Given the description of an element on the screen output the (x, y) to click on. 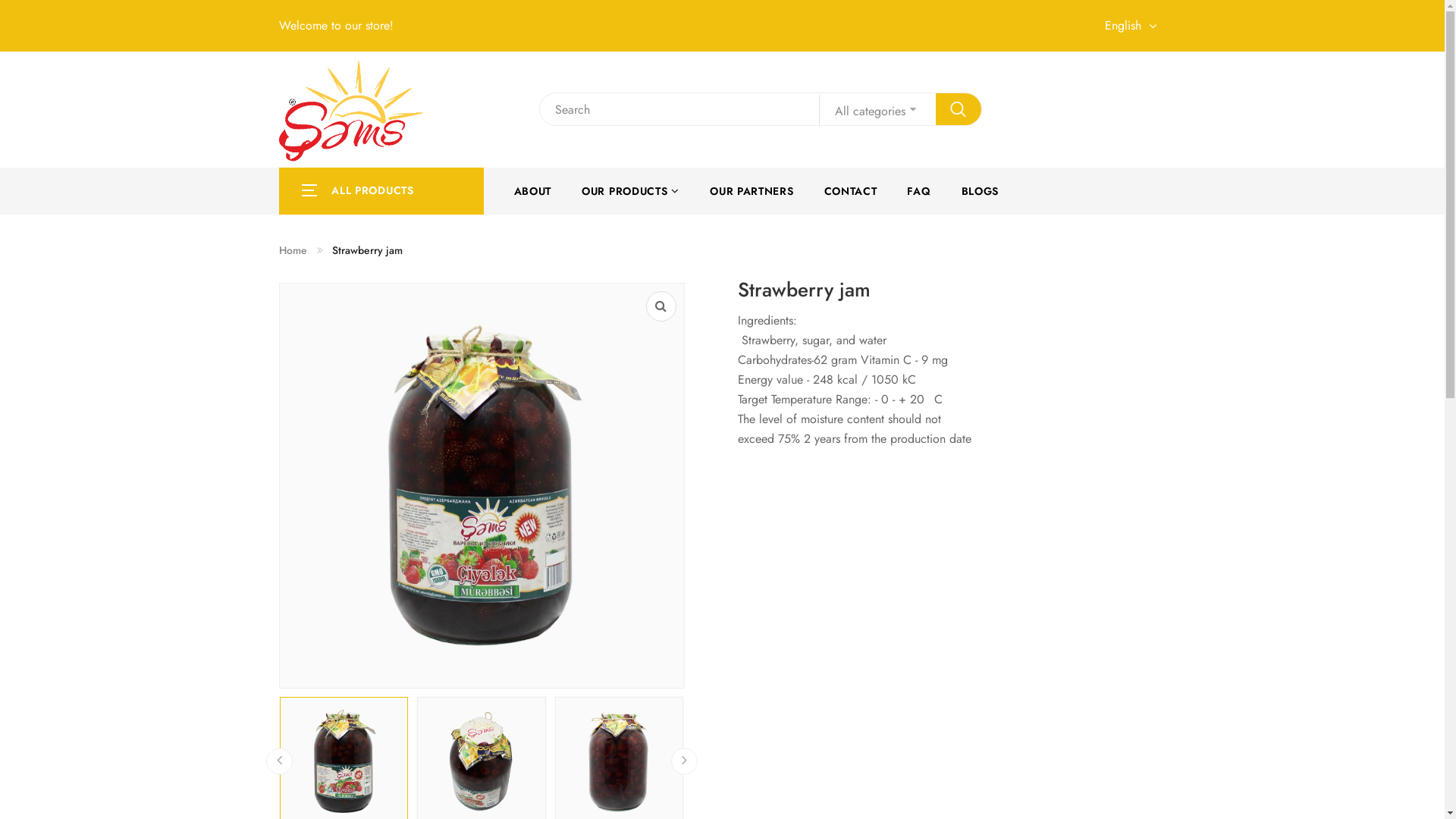
FAQ Element type: text (918, 190)
CONTACT Element type: text (850, 190)
OUR PRODUCTS Element type: text (630, 190)
All categories Element type: text (877, 109)
Home Element type: text (293, 249)
ABOUT Element type: text (532, 190)
BLOGS Element type: text (980, 190)
English Element type: text (1134, 25)
OUR PARTNERS Element type: text (751, 190)
